Given the description of an element on the screen output the (x, y) to click on. 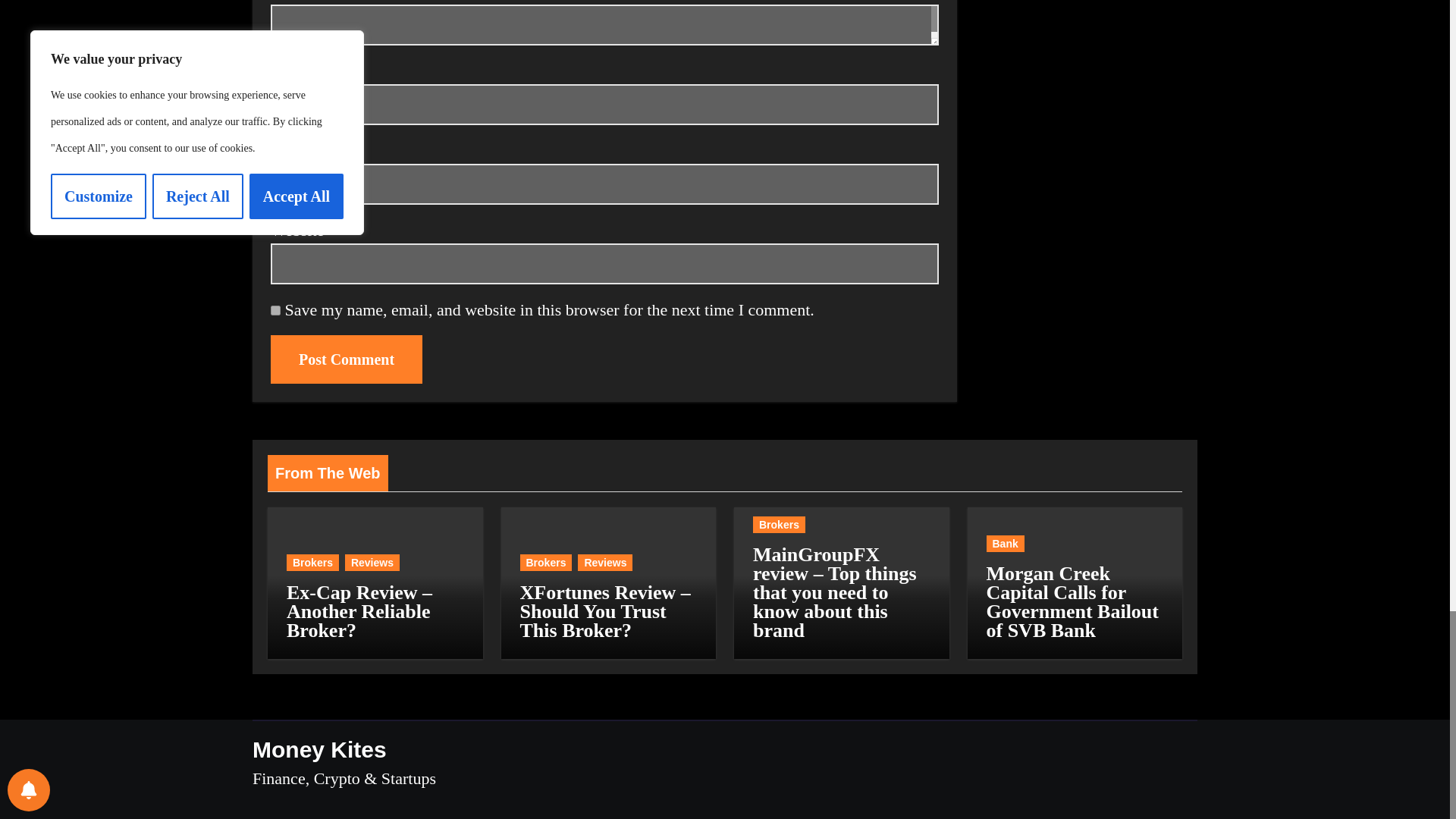
yes (275, 310)
Post Comment (346, 359)
